Given the description of an element on the screen output the (x, y) to click on. 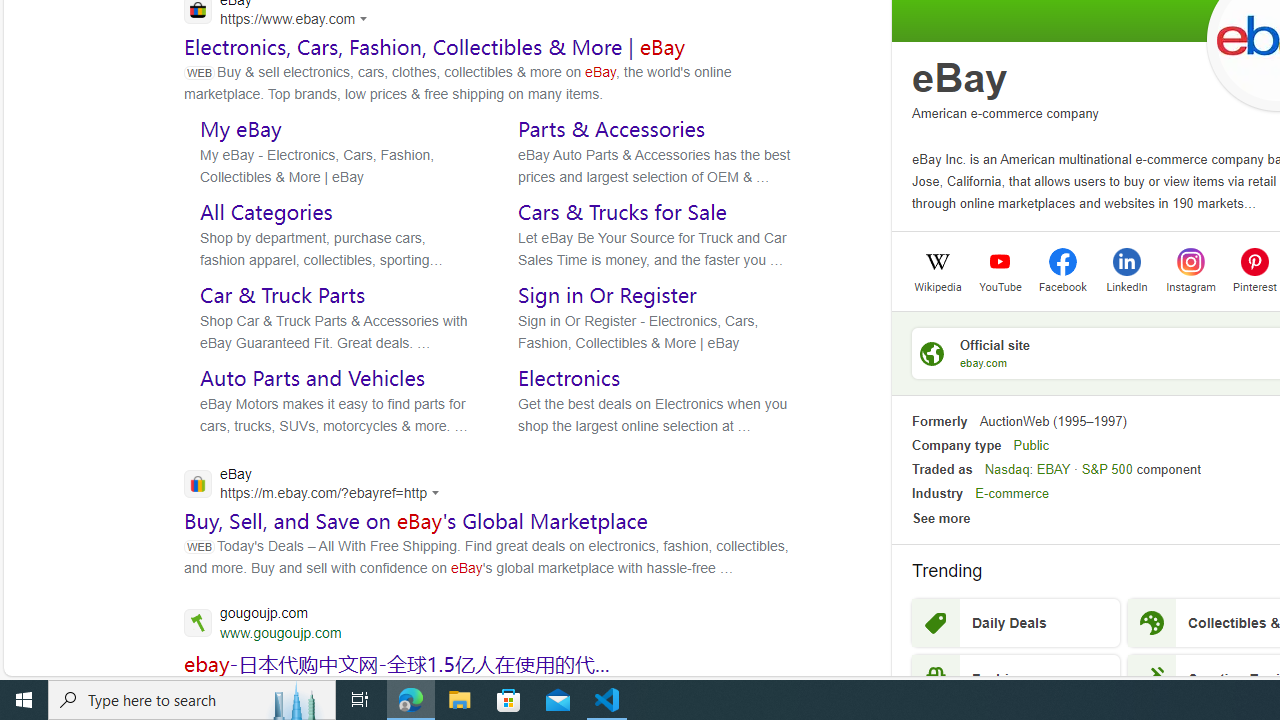
Nasdaq (1007, 469)
American e-commerce company (1005, 112)
Fashion (1015, 678)
Sign in Or Register (607, 295)
Daily Deals (1015, 623)
Facebook (1062, 285)
E-commerce (1012, 493)
Company type (956, 444)
Industry (937, 493)
Auto Parts and Vehicles (311, 377)
Pinterest (1254, 261)
Buy, Sell, and Save on eBay's Global Marketplace (415, 521)
